Given the description of an element on the screen output the (x, y) to click on. 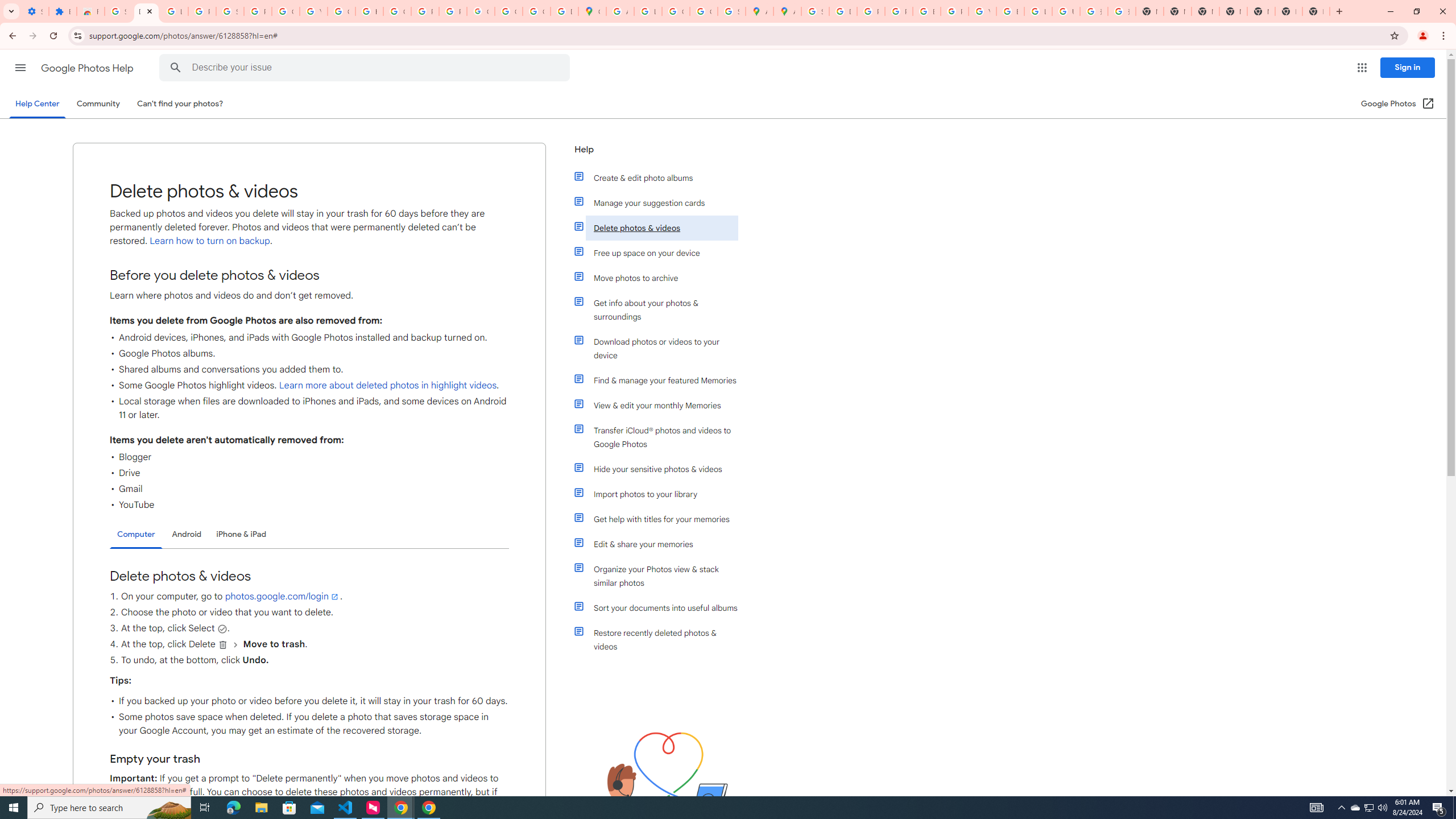
Create your Google Account (675, 11)
Delete photos & videos (661, 227)
Get info about your photos & surroundings (661, 309)
Free up space on your device (661, 252)
iPhone & iPad (240, 533)
Settings - On startup (34, 11)
